Given the description of an element on the screen output the (x, y) to click on. 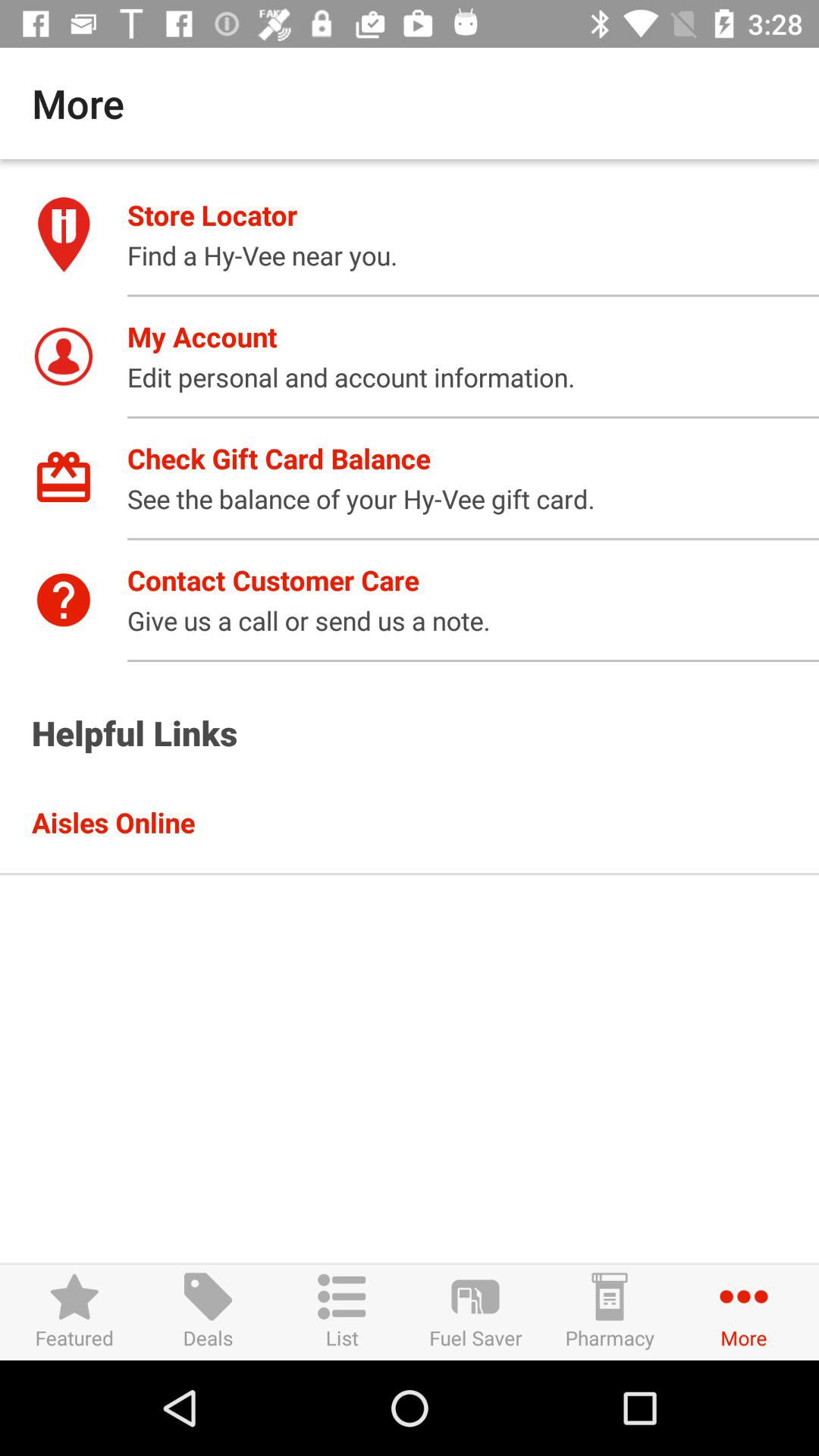
press the icon to the right of the list (475, 1311)
